Given the description of an element on the screen output the (x, y) to click on. 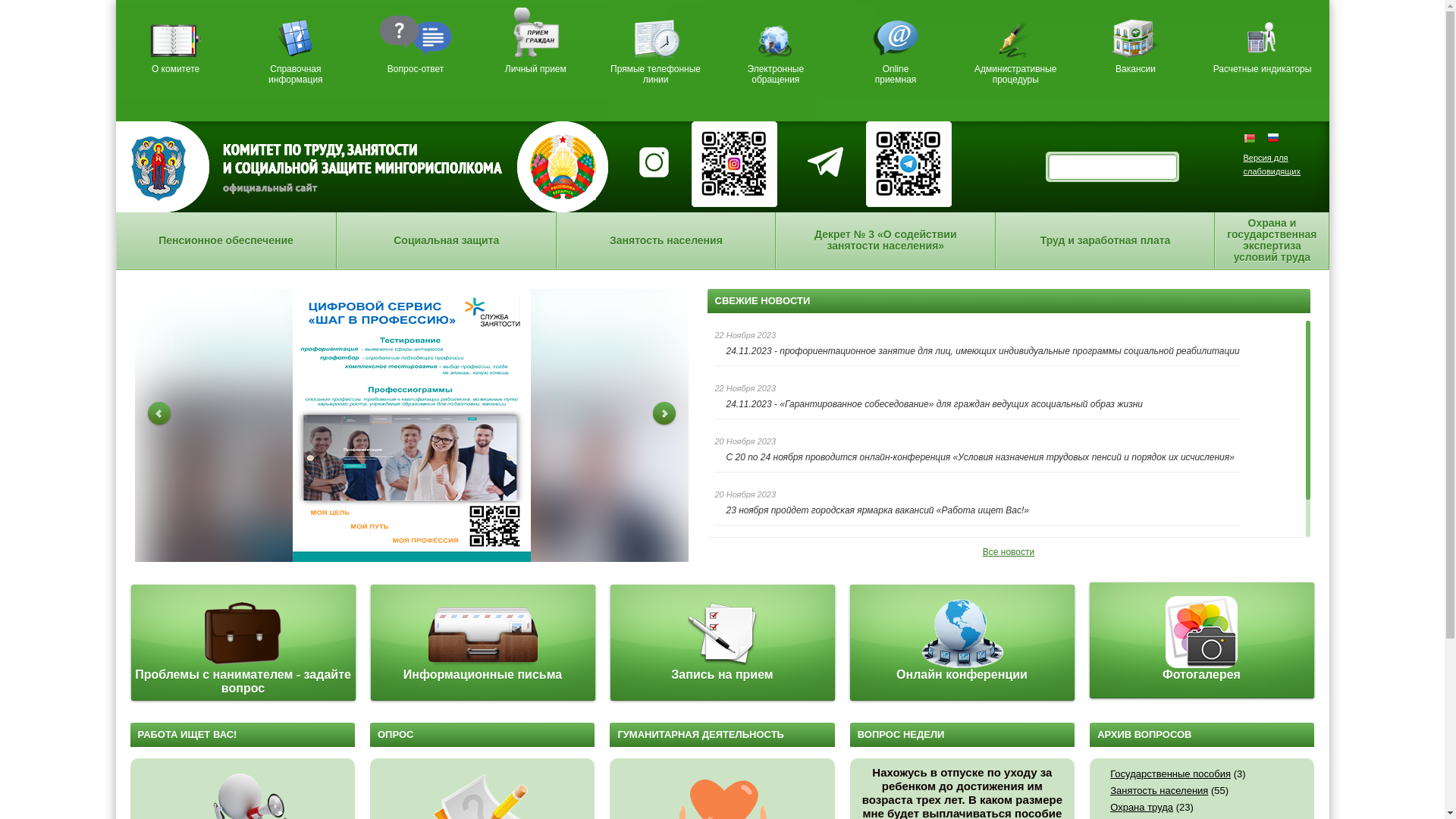
Belarusian Element type: hover (1255, 136)
Russian Element type: hover (1272, 136)
